Given the description of an element on the screen output the (x, y) to click on. 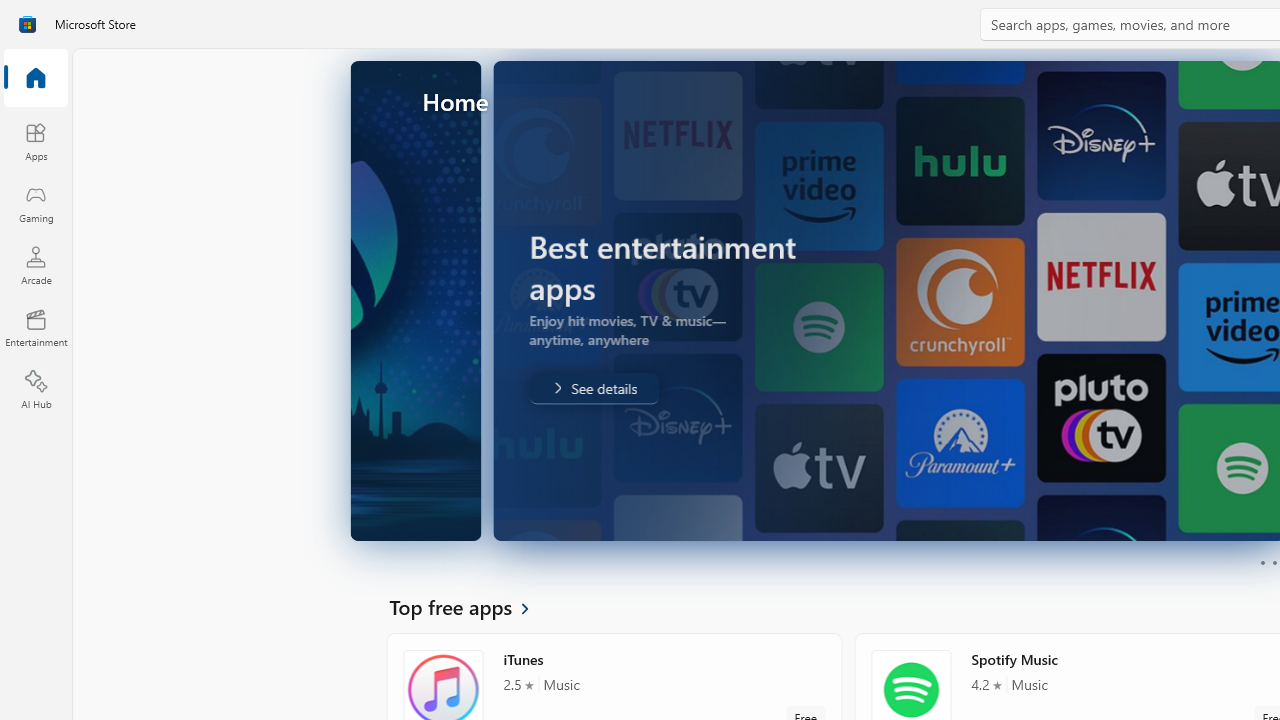
Gaming (35, 203)
Page 2 (1274, 562)
AI Hub (35, 390)
Apps (35, 141)
AutomationID: Image (815, 300)
Class: Image (27, 24)
See all  Top free apps (471, 606)
Home (35, 79)
Arcade (35, 265)
Entertainment (35, 327)
Page 1 (1261, 562)
